Given the description of an element on the screen output the (x, y) to click on. 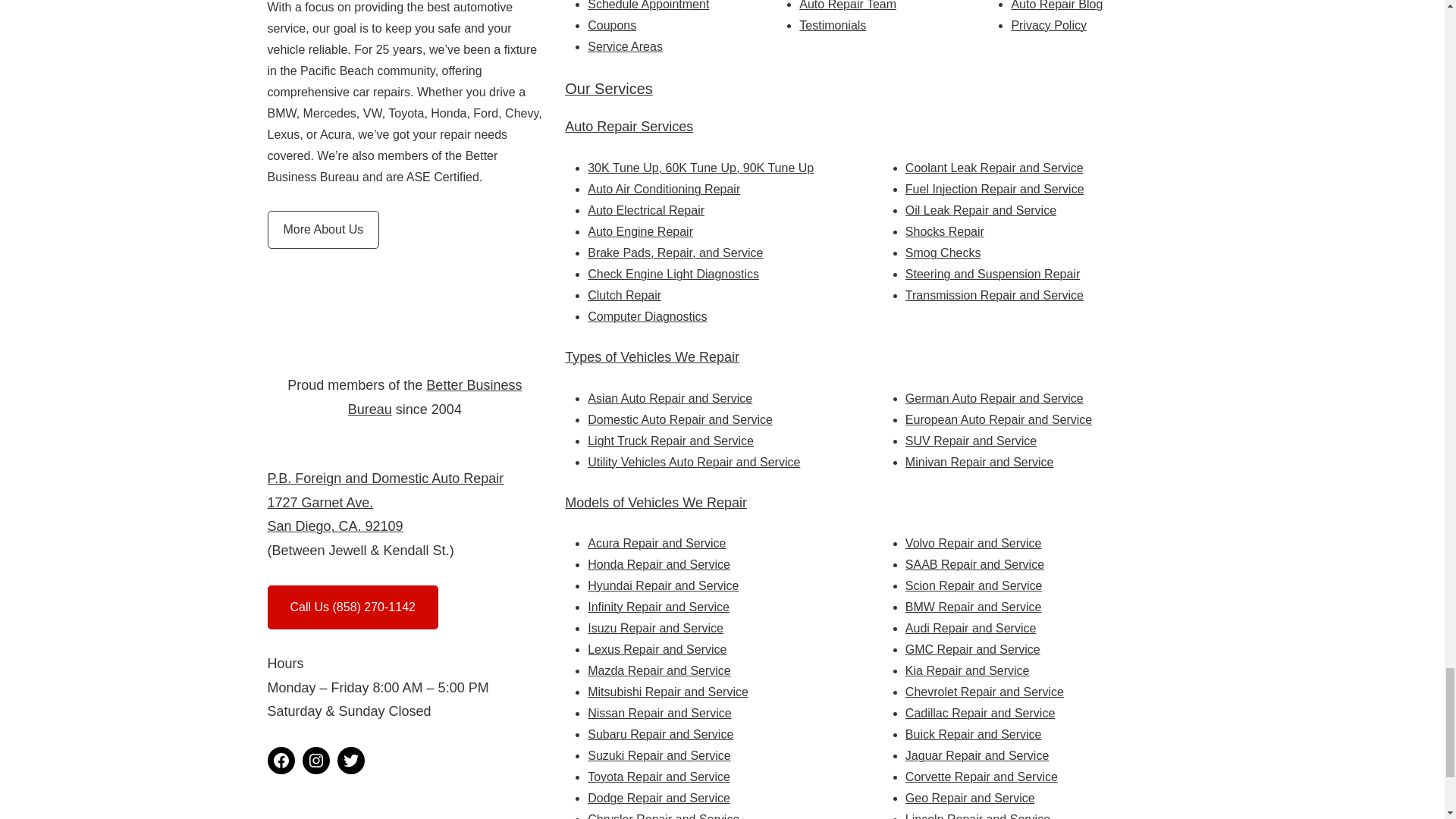
Facebook (280, 759)
Instagram (315, 759)
More About Us (322, 229)
Better Business Bureau (434, 396)
